Given the description of an element on the screen output the (x, y) to click on. 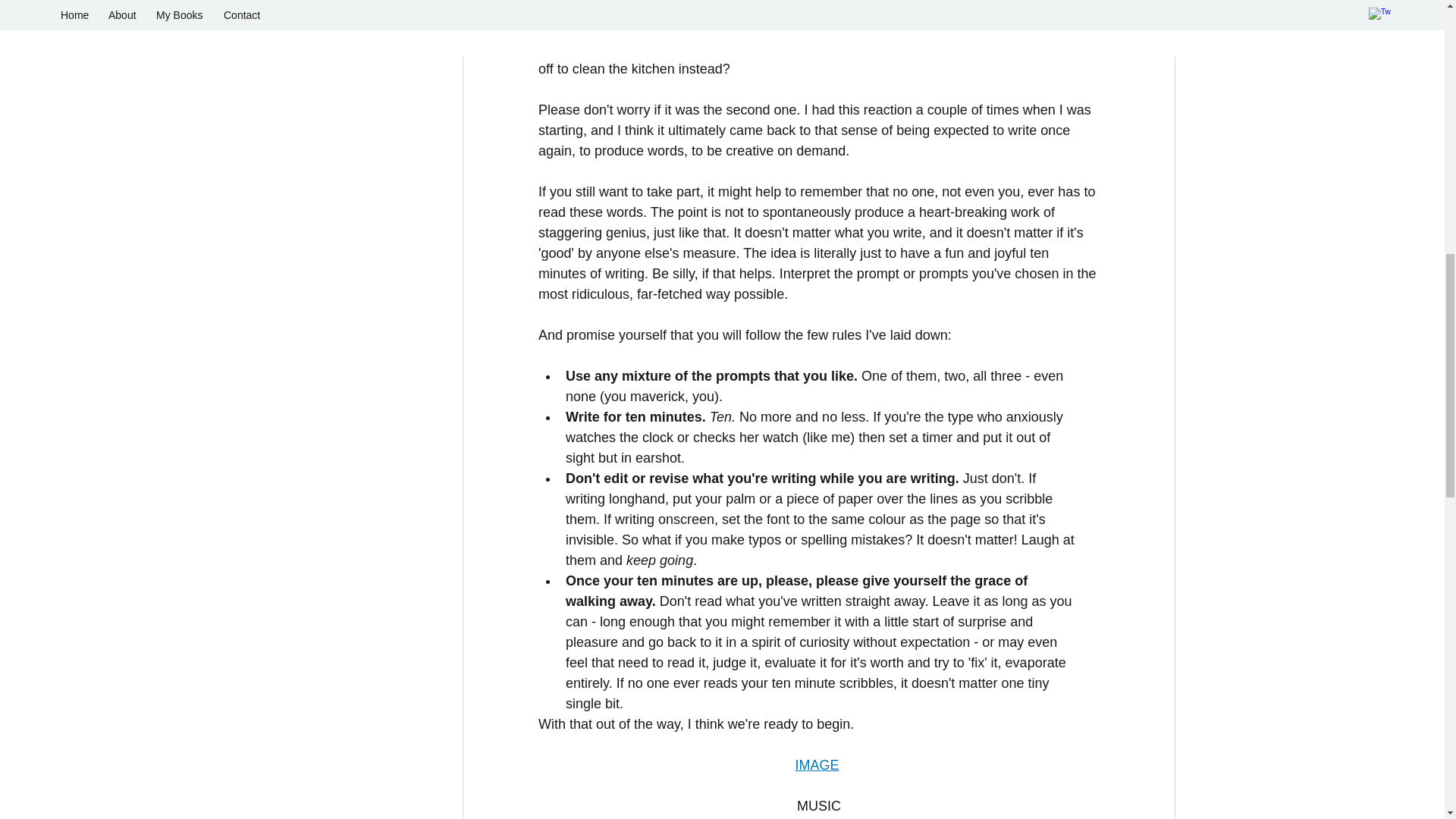
IMAGE (816, 765)
